Given the description of an element on the screen output the (x, y) to click on. 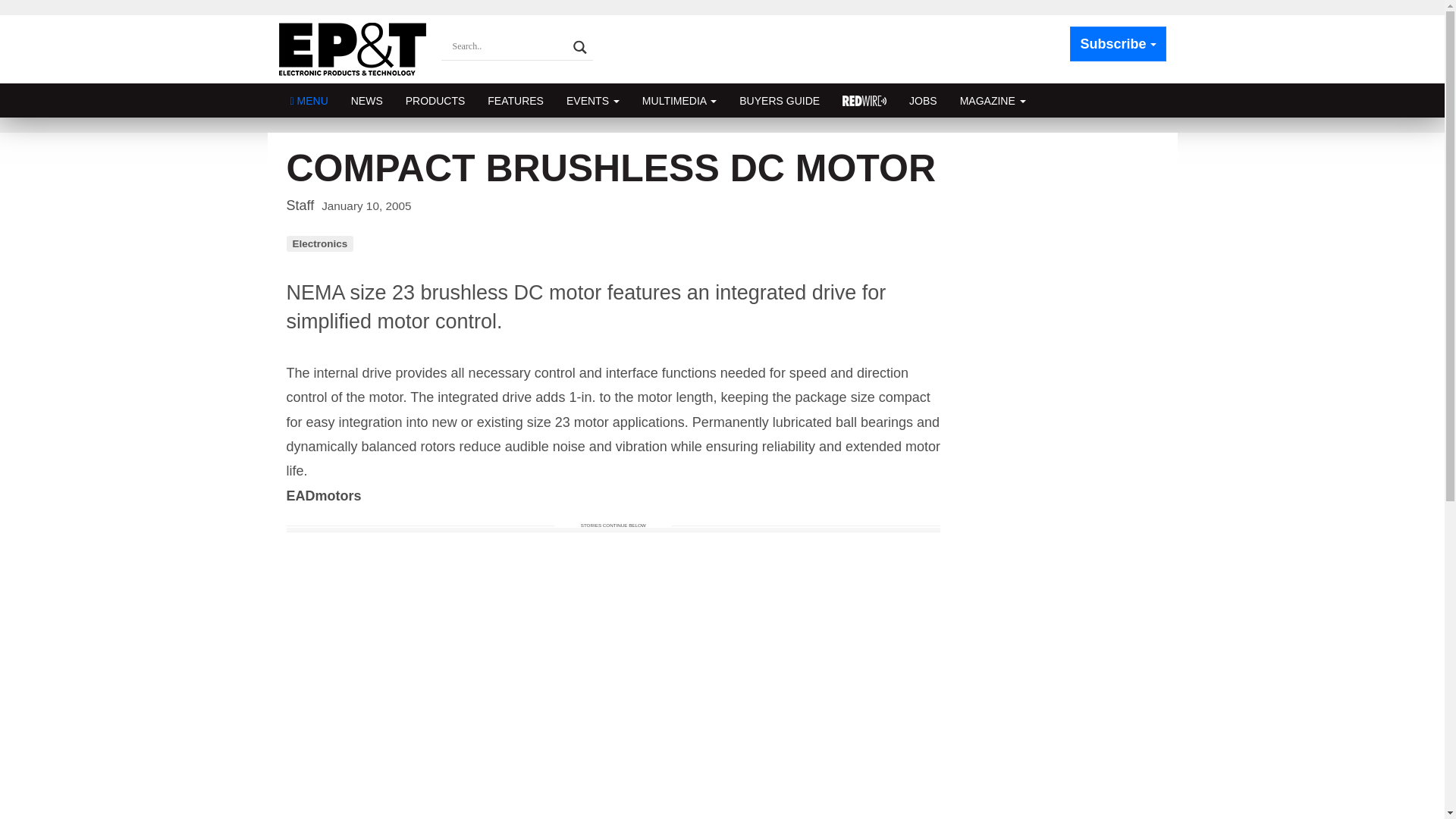
Subscribe (1118, 43)
EVENTS (592, 100)
BUYERS GUIDE (779, 100)
PRODUCTS (435, 100)
MENU (309, 100)
FEATURES (515, 100)
Click to show site navigation (309, 100)
JOBS (923, 100)
MAGAZINE (992, 100)
NEWS (366, 100)
